Given the description of an element on the screen output the (x, y) to click on. 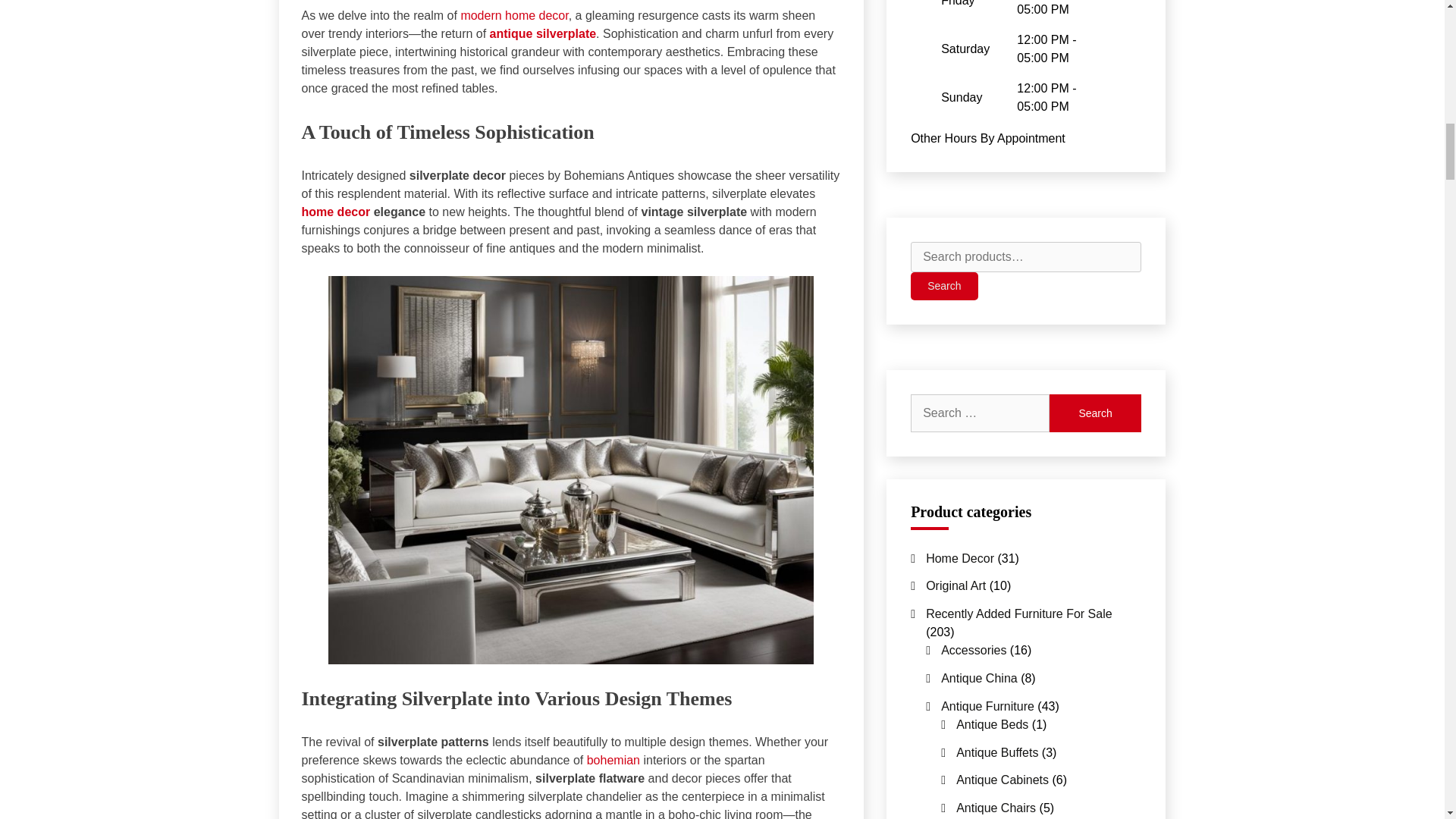
bohemian (613, 759)
antique silverplate (542, 33)
modern home decor (513, 15)
home decor (336, 211)
Search (1095, 412)
Search (1095, 412)
